Given the description of an element on the screen output the (x, y) to click on. 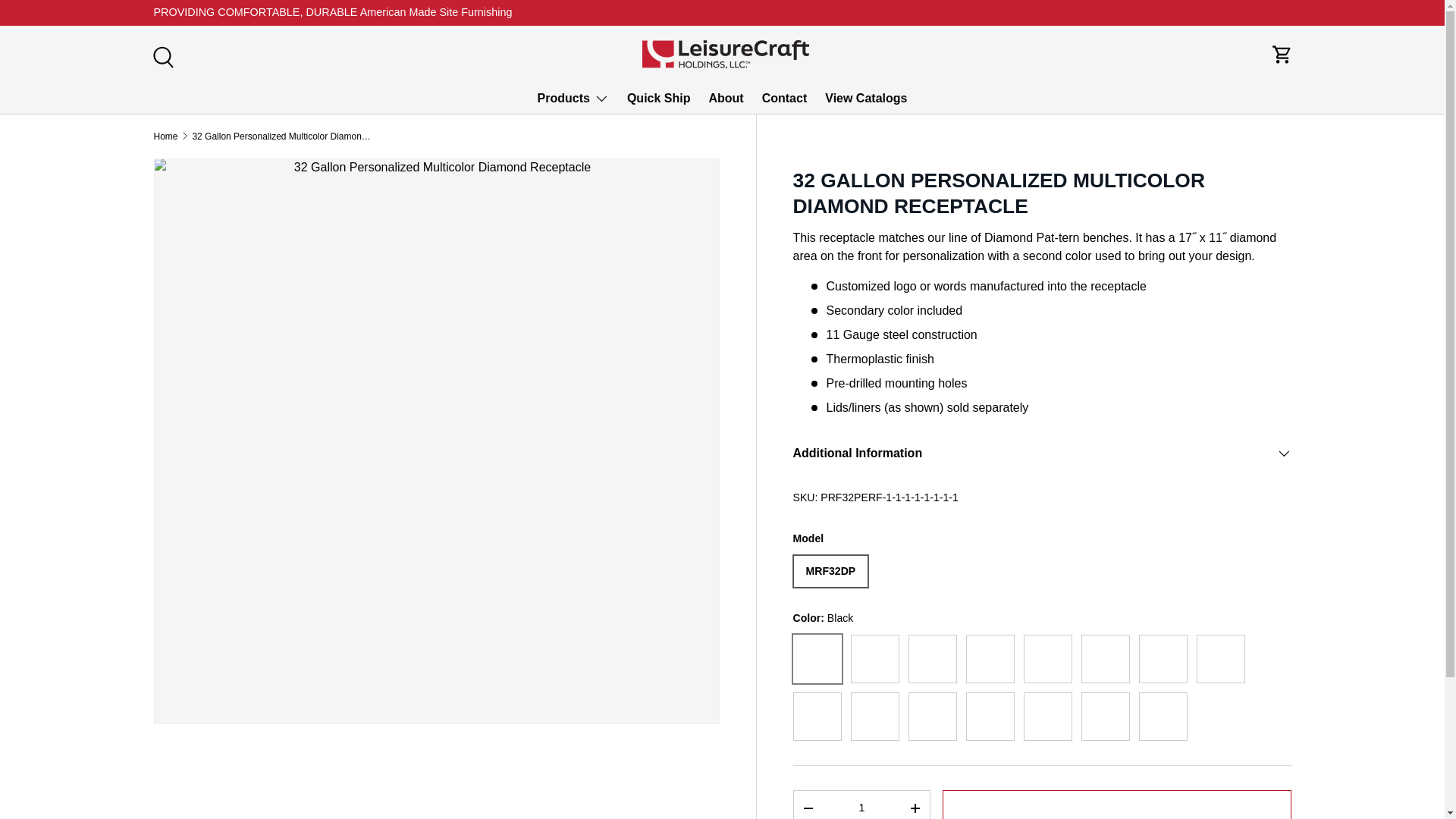
1 (861, 805)
Cart (1281, 54)
